Given the description of an element on the screen output the (x, y) to click on. 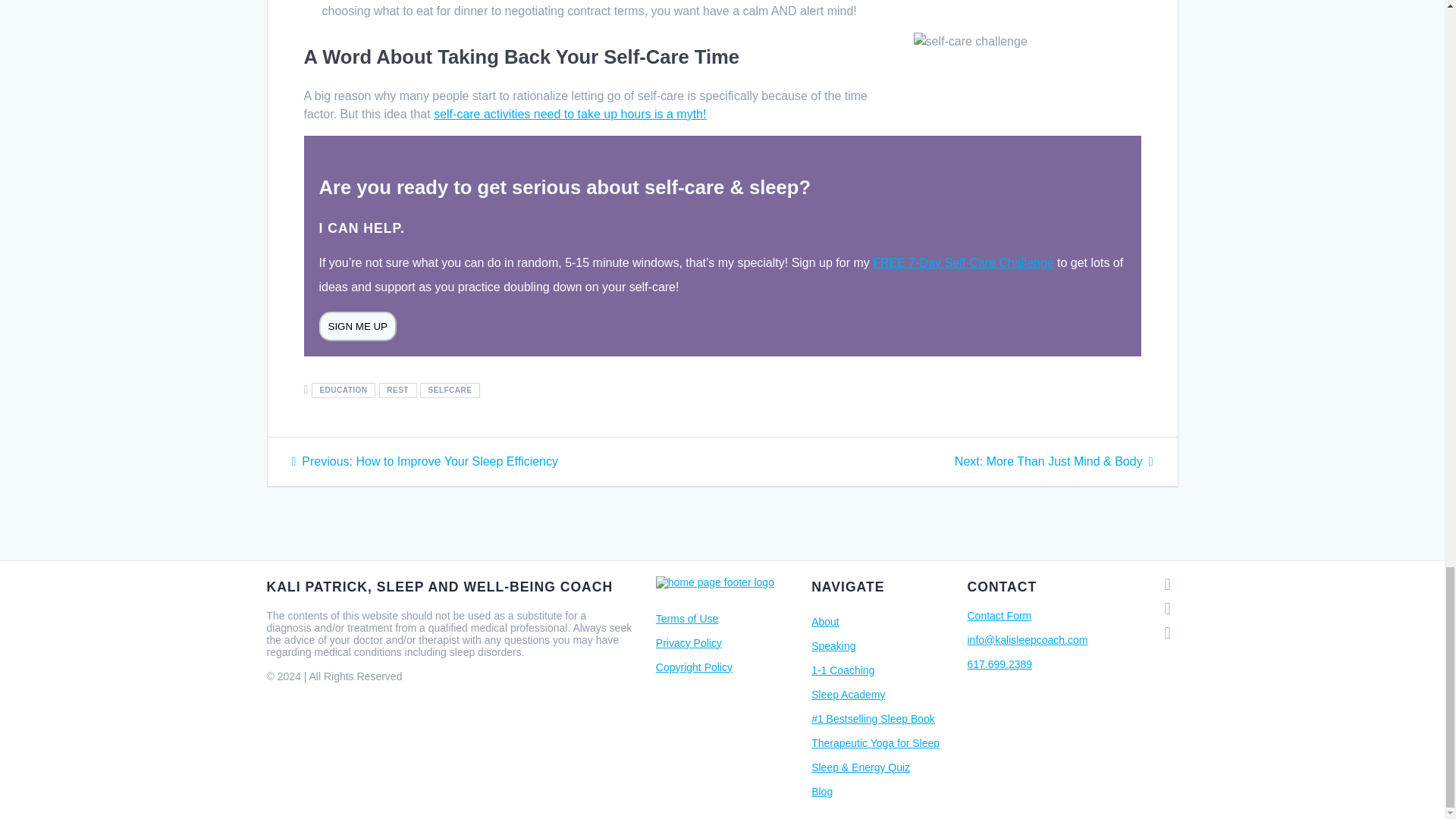
SIGN ME UP (357, 325)
self-care activities need to take up hours is a myth! (569, 113)
EDUCATION (343, 390)
SELFCARE (450, 390)
FREE 7-Day Self-Care Challenge (962, 262)
SIGN ME UP (357, 326)
REST (397, 390)
